Given the description of an element on the screen output the (x, y) to click on. 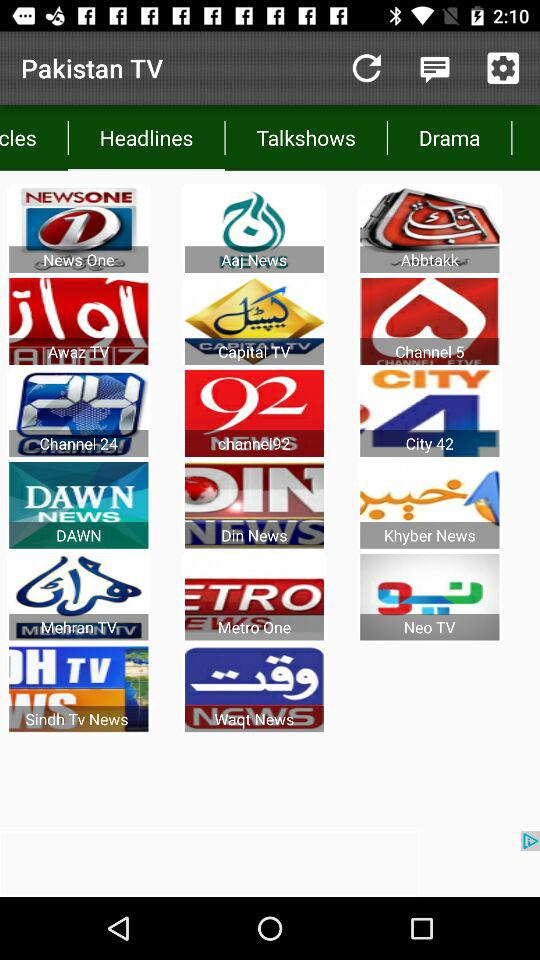
click icon next to articles (146, 137)
